Given the description of an element on the screen output the (x, y) to click on. 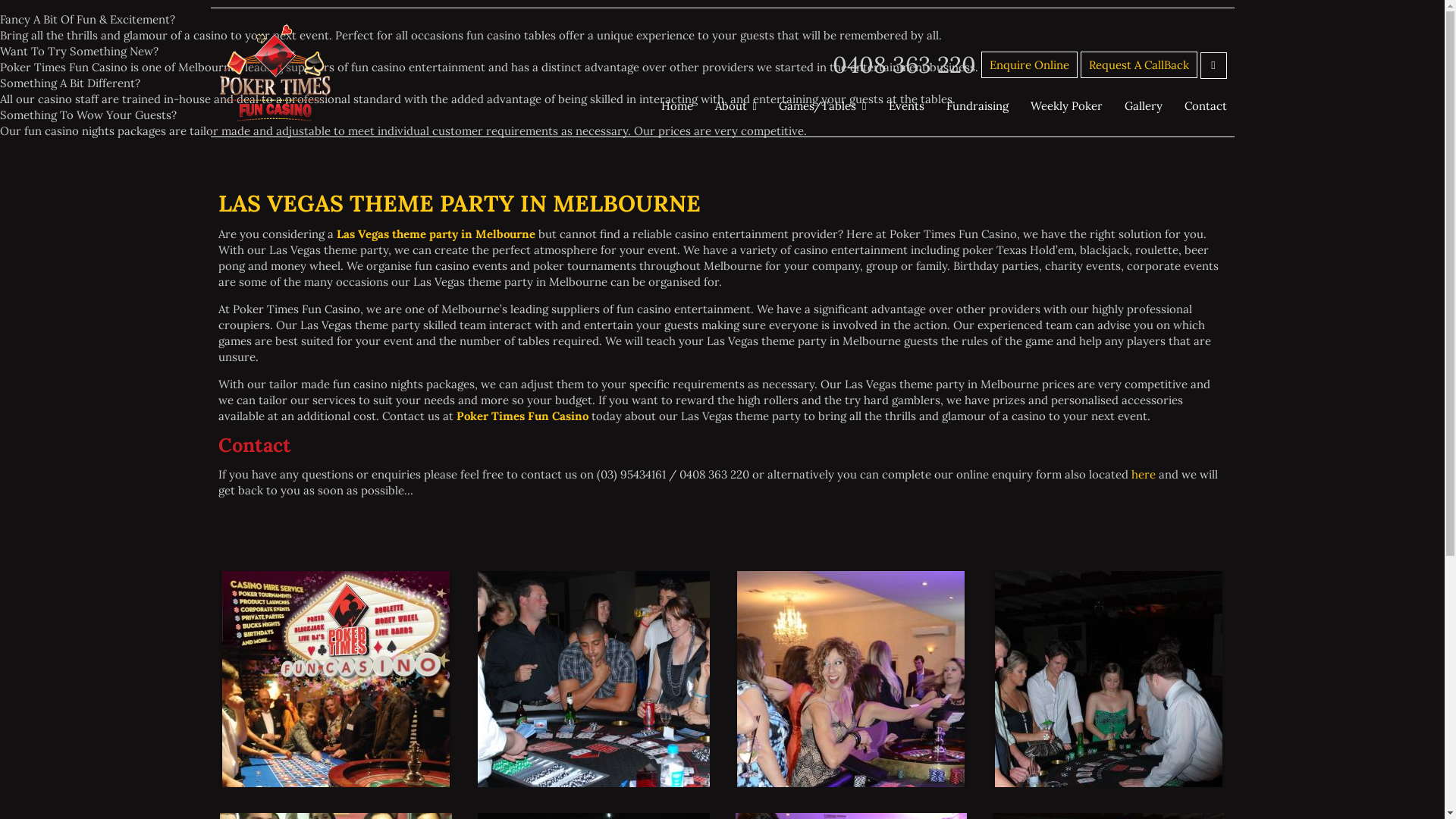
Fundraising Element type: text (977, 104)
Request A CallBack Element type: text (1137, 64)
Enquire Online Element type: text (1029, 64)
About Element type: text (735, 104)
Home Element type: text (677, 104)
Events Element type: text (906, 104)
Games/Tables Element type: text (822, 104)
Gallery Element type: text (1142, 104)
Poker Times Fun Casino Element type: text (522, 415)
Blackjack-4 Element type: hover (647, 683)
Contact Element type: text (1205, 104)
here Element type: text (1143, 474)
Weekly Poker Element type: text (1065, 104)
Las Vegas theme party in Melbourne Element type: text (435, 233)
